Given the description of an element on the screen output the (x, y) to click on. 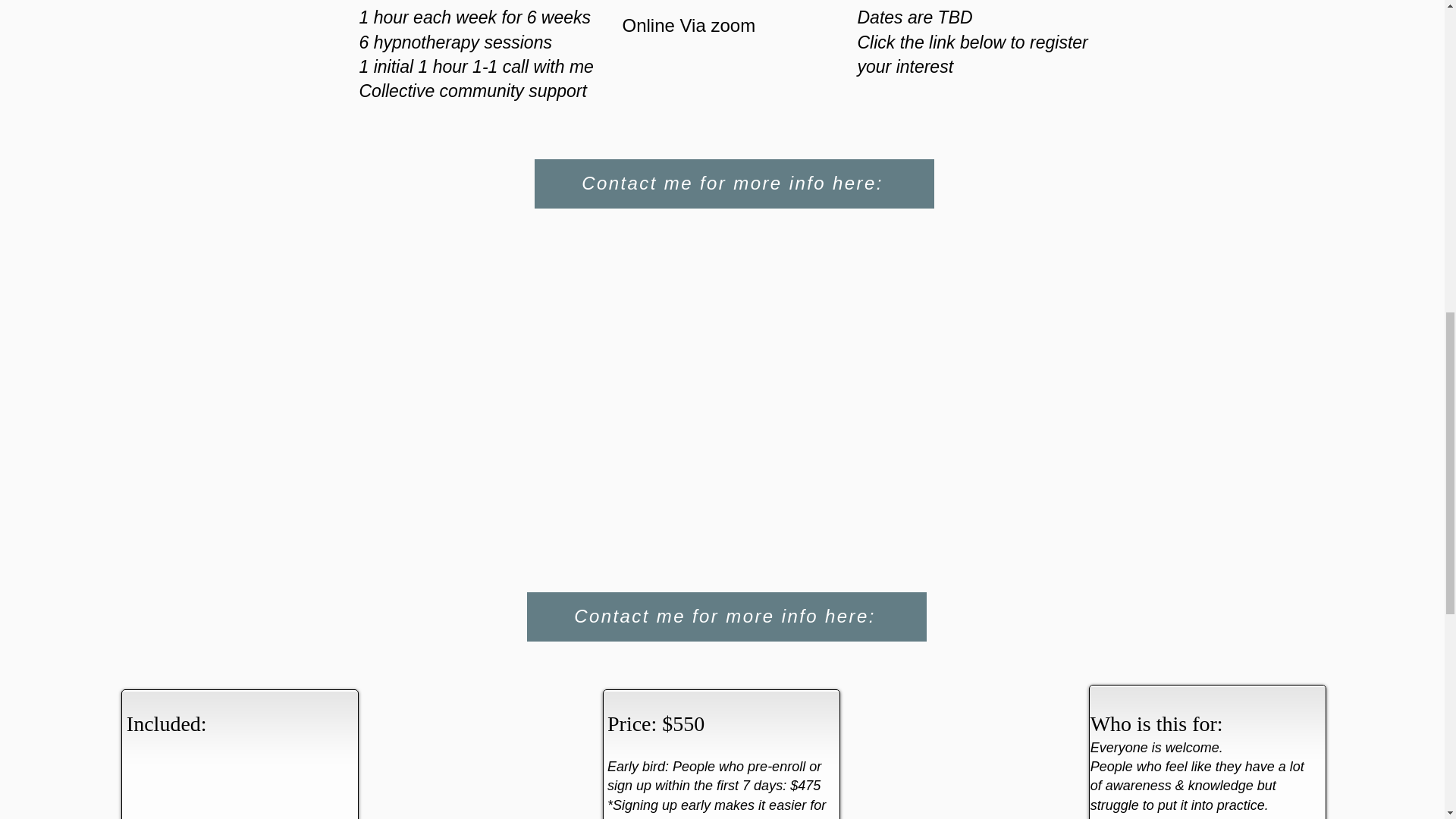
Contact me for more info here: (725, 616)
Contact me for more info here: (733, 183)
